Given the description of an element on the screen output the (x, y) to click on. 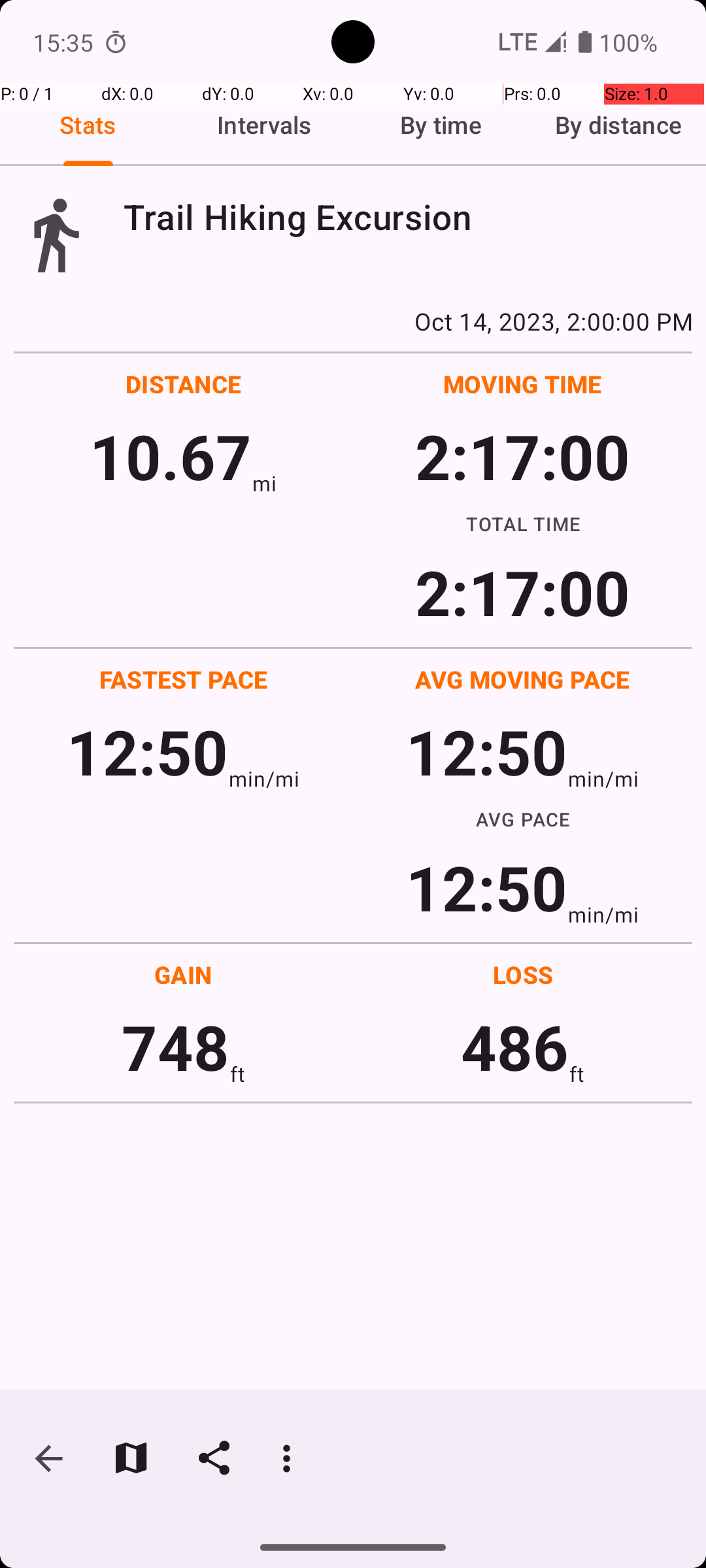
Trail Hiking Excursion Element type: android.widget.TextView (407, 216)
Oct 14, 2023, 2:00:00 PM Element type: android.widget.TextView (352, 320)
10.67 Element type: android.widget.TextView (170, 455)
2:17:00 Element type: android.widget.TextView (522, 455)
12:50 Element type: android.widget.TextView (147, 750)
748 Element type: android.widget.TextView (175, 1045)
486 Element type: android.widget.TextView (514, 1045)
